Given the description of an element on the screen output the (x, y) to click on. 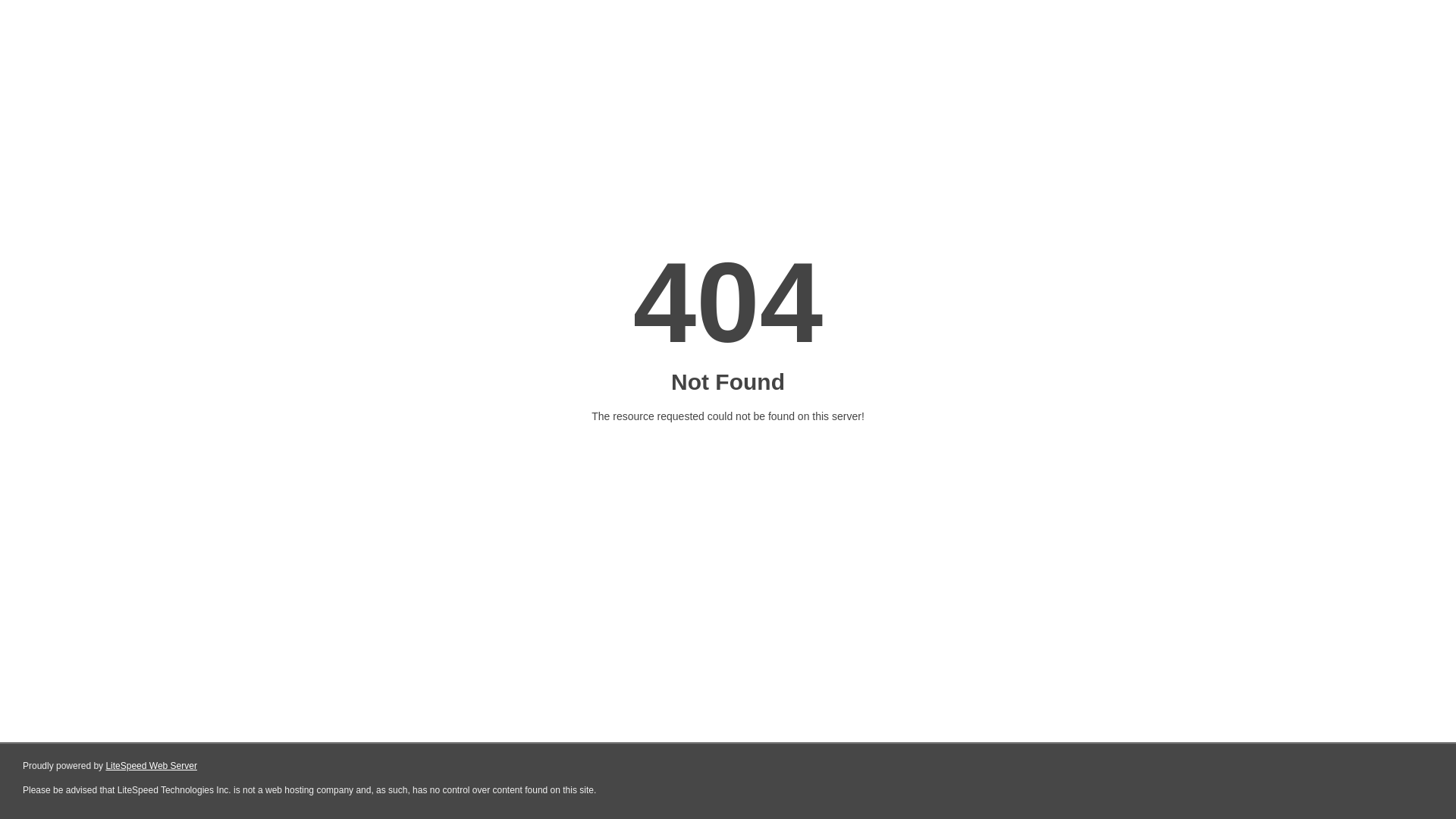
LiteSpeed Web Server Element type: text (151, 765)
